Given the description of an element on the screen output the (x, y) to click on. 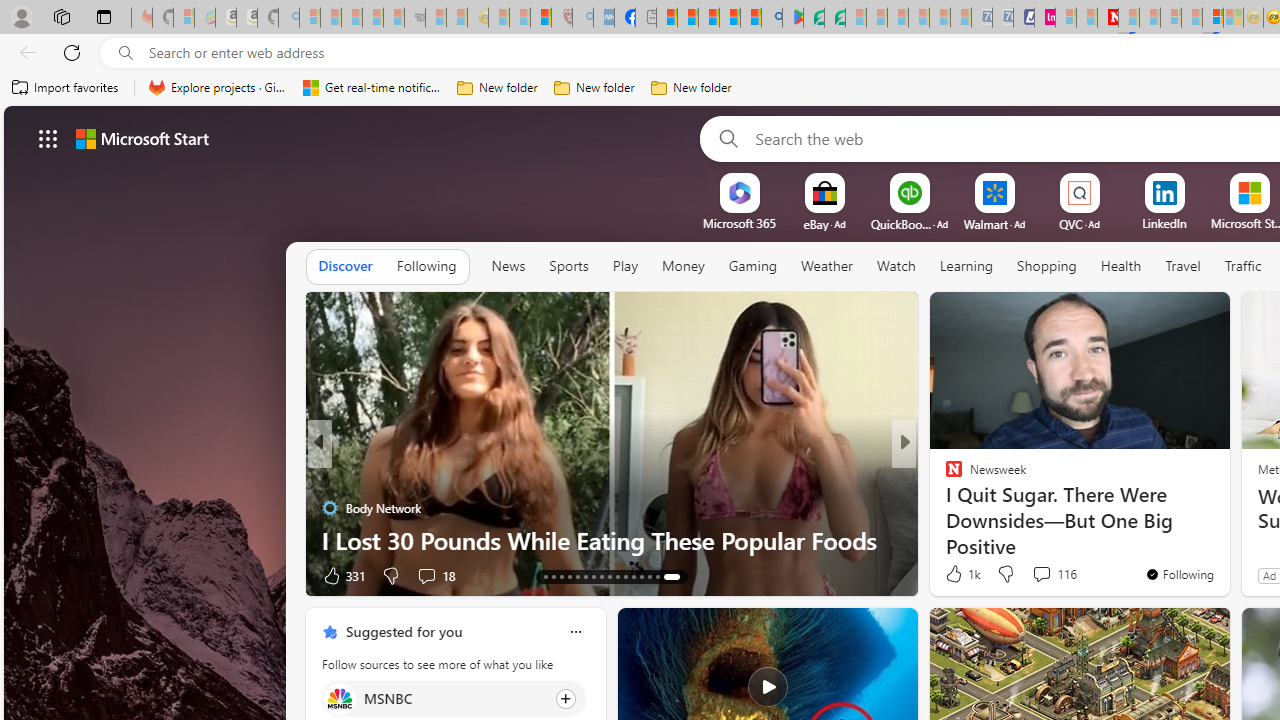
More Options (1197, 179)
AutomationID: tab-42 (671, 576)
Microsoft Word - consumer-privacy address update 2.2021 (834, 17)
Import favorites (65, 88)
